Given the description of an element on the screen output the (x, y) to click on. 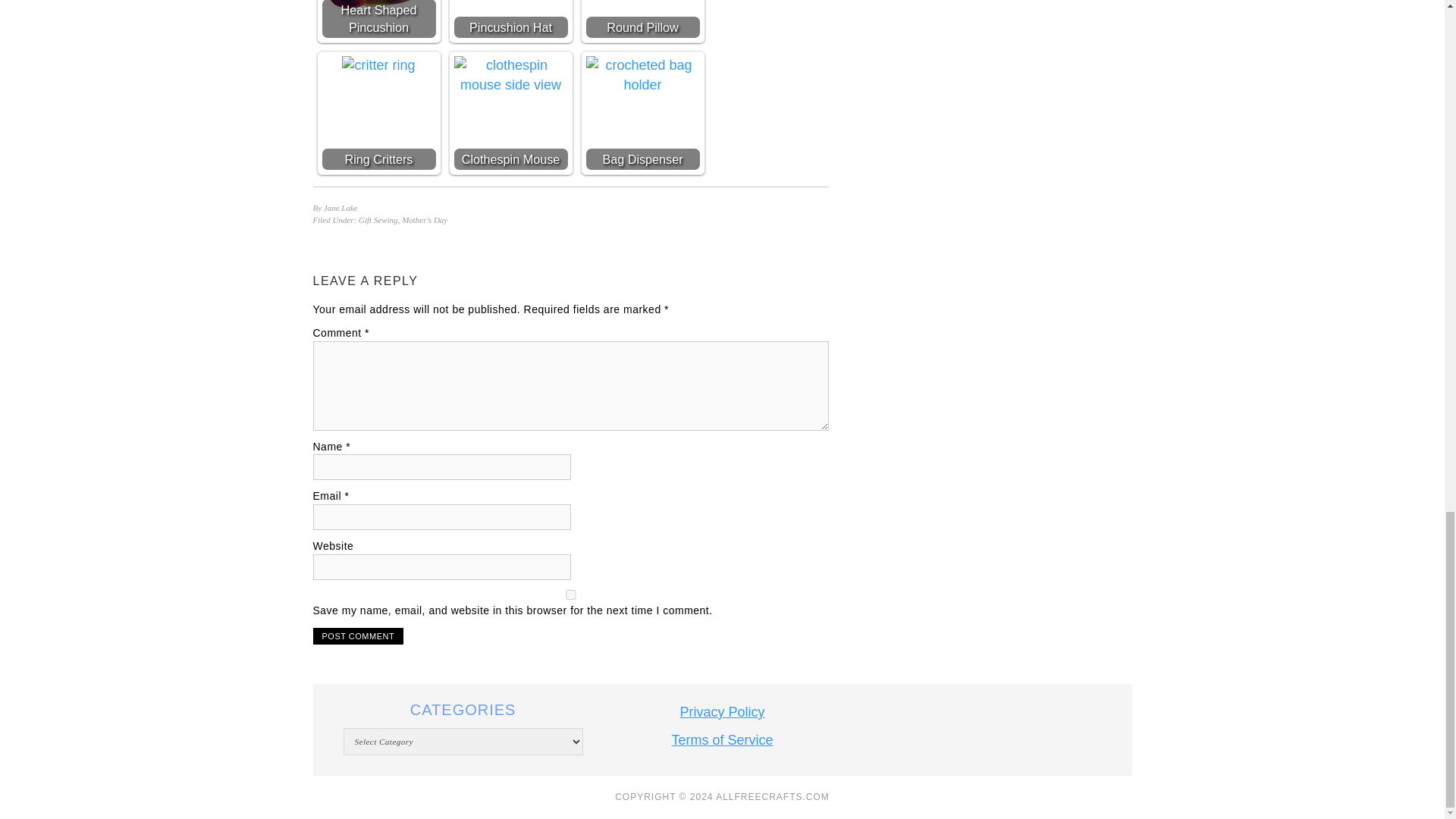
Heart Shaped Pincushion (378, 5)
Ring Critters (378, 65)
Bag Dispenser (641, 75)
Clothespin  Mouse (509, 75)
yes (570, 594)
Post Comment (358, 636)
